Given the description of an element on the screen output the (x, y) to click on. 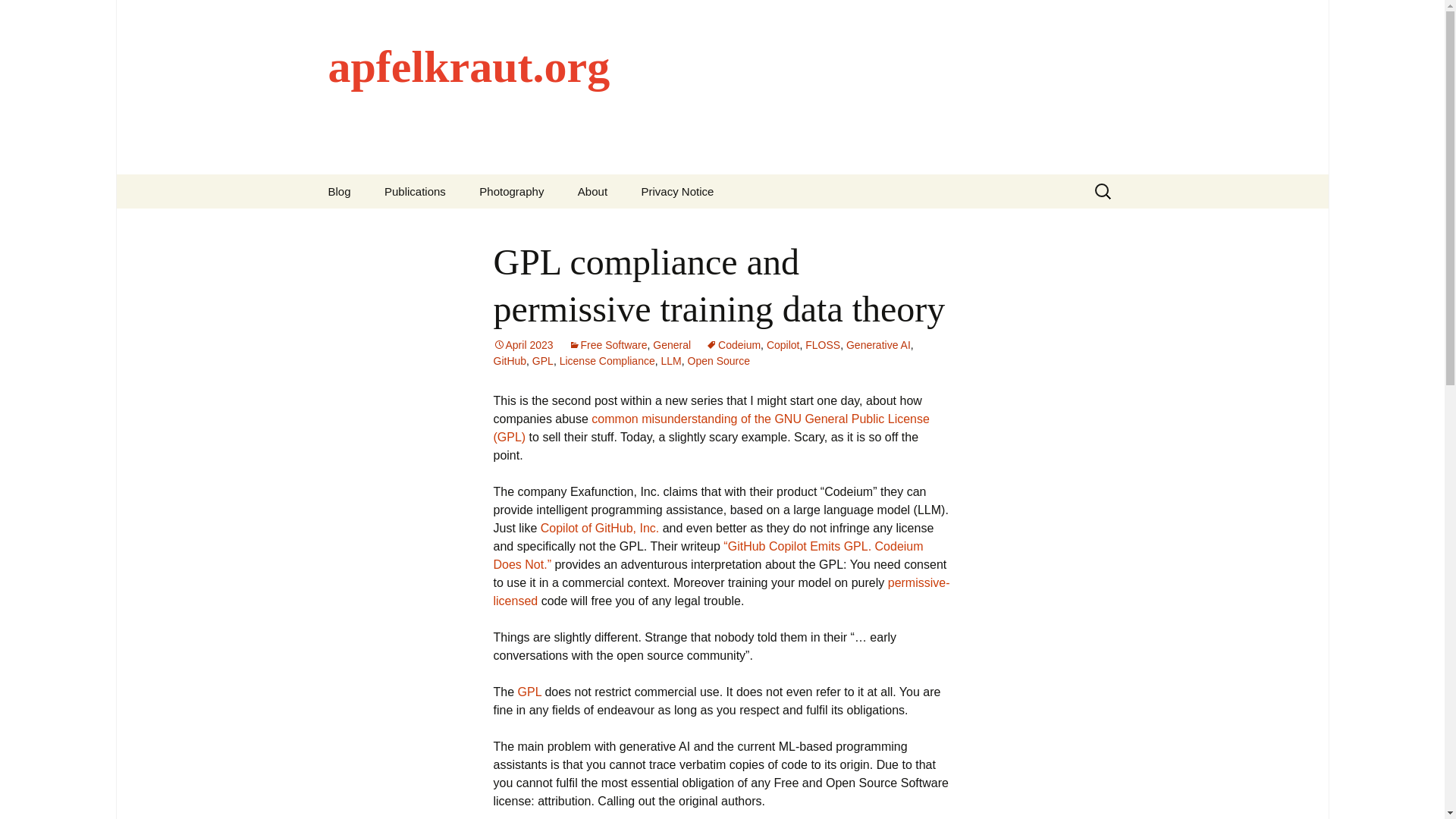
Free Software (608, 345)
About (592, 191)
permissive-licensed (721, 591)
GPL (542, 360)
April 2023 (523, 345)
LLM (671, 360)
GitHub (509, 360)
Open Source (719, 360)
Privacy Notice (677, 191)
Publications (415, 191)
